Given the description of an element on the screen output the (x, y) to click on. 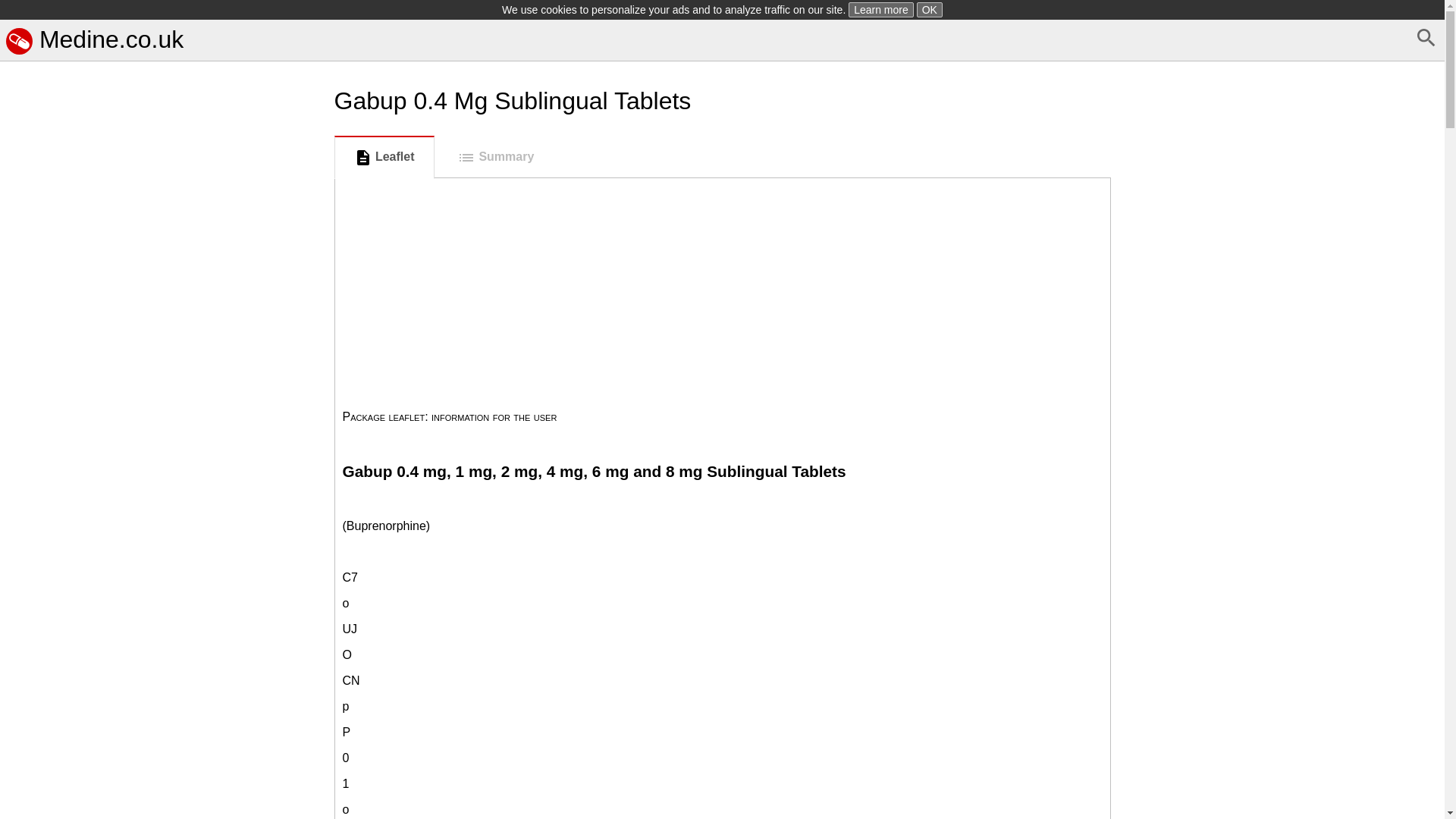
Leaflet (383, 157)
Summary (495, 157)
Advertisement (164, 729)
Learn more (881, 9)
Medine.co.uk (94, 39)
OK (929, 9)
